Given the description of an element on the screen output the (x, y) to click on. 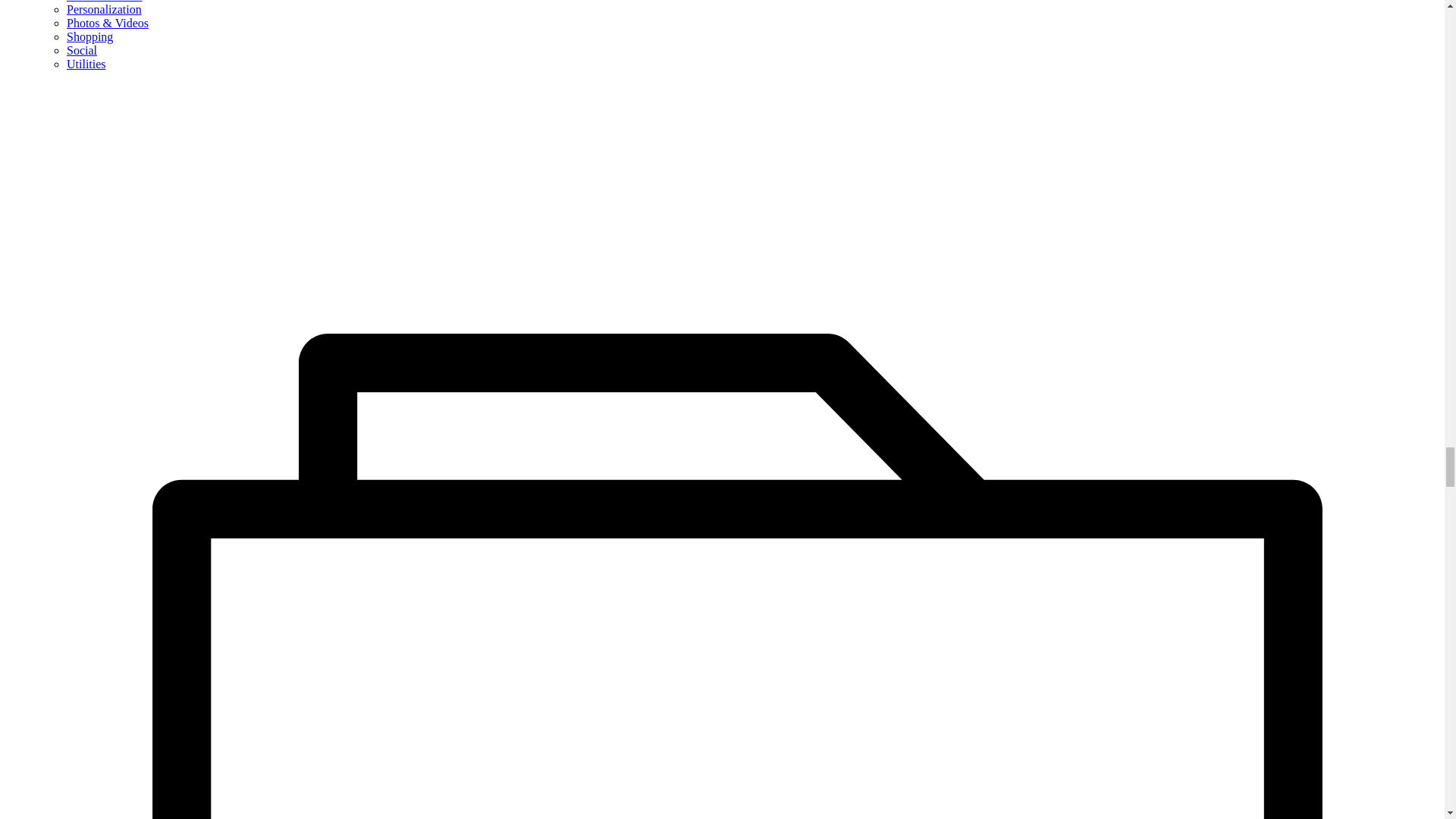
Personalization (103, 9)
